Given the description of an element on the screen output the (x, y) to click on. 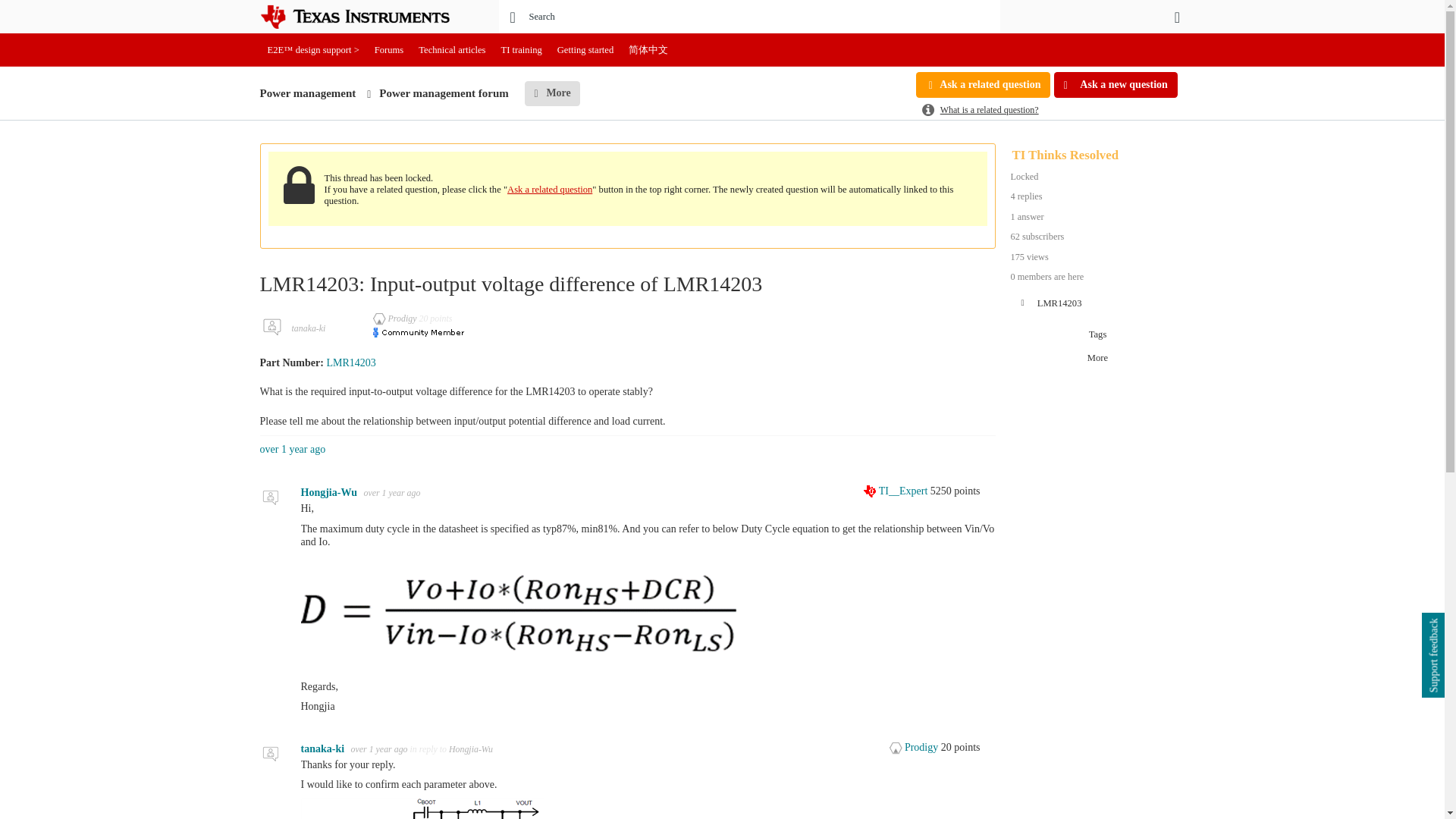
Getting started (585, 49)
User (1177, 17)
Technical articles (451, 49)
Click here for explanation of levels (914, 747)
Click here for explanation of levels (395, 317)
Home (365, 16)
Forums (389, 49)
TI training (521, 49)
Link to Product Folder (350, 362)
Click here for explanation of levels (896, 490)
Join or sign in (1177, 17)
